Given the description of an element on the screen output the (x, y) to click on. 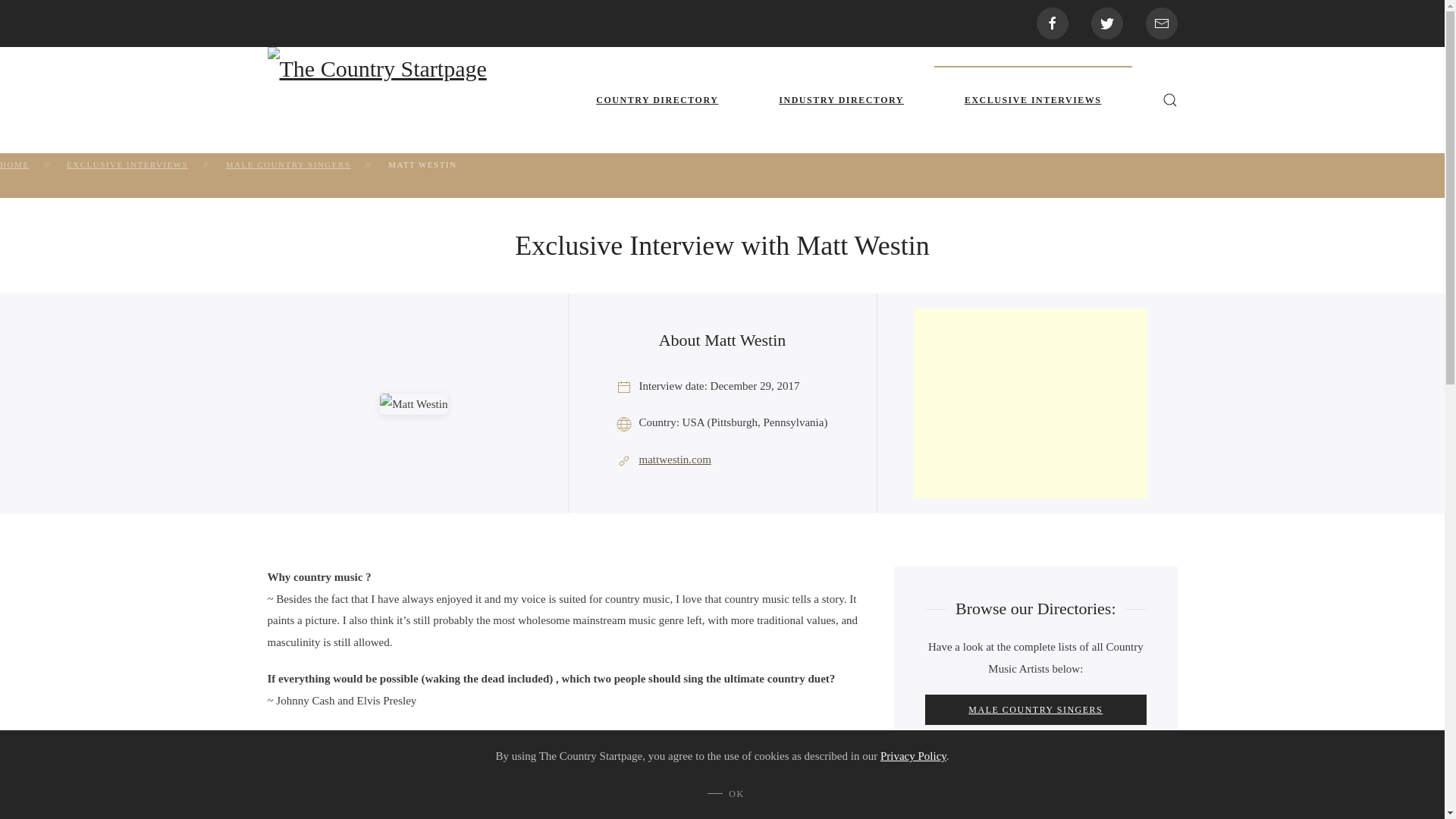
List of All Male Country Singers (1034, 709)
About Matt Westin (721, 340)
List of All Female Country Singers (1034, 755)
COUNTRY DIRECTORY (657, 100)
list of country bands (1034, 800)
